Given the description of an element on the screen output the (x, y) to click on. 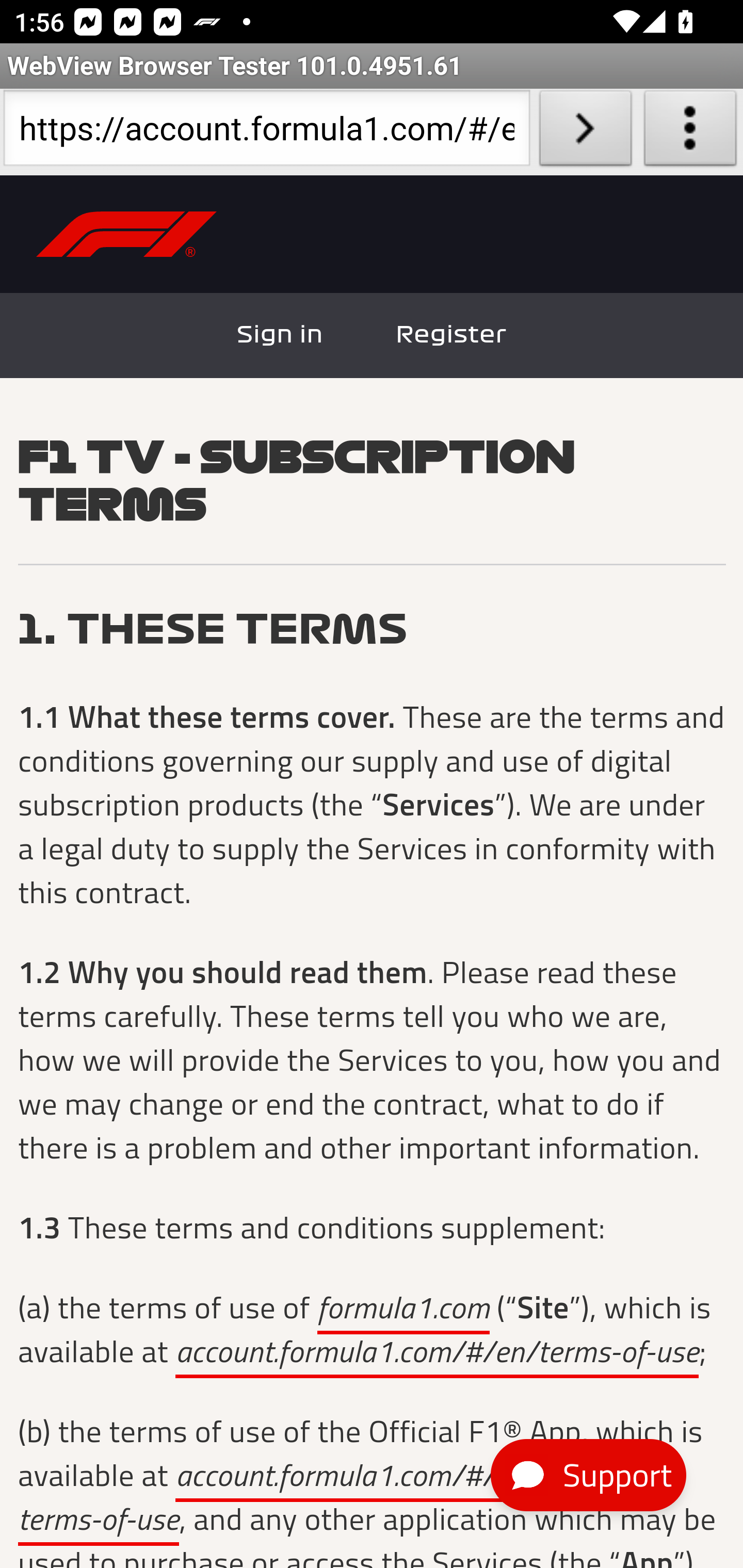
Load URL (585, 132)
About WebView (690, 132)
Formula1 (127, 234)
Sign in (280, 335)
Register (451, 335)
formula1.com (403, 1309)
account.formula1.com/#/en/terms-of-use (437, 1352)
Support (588, 1476)
account.formula1.com/#/en/f1-apps-terms-of-use (332, 1499)
